Given the description of an element on the screen output the (x, y) to click on. 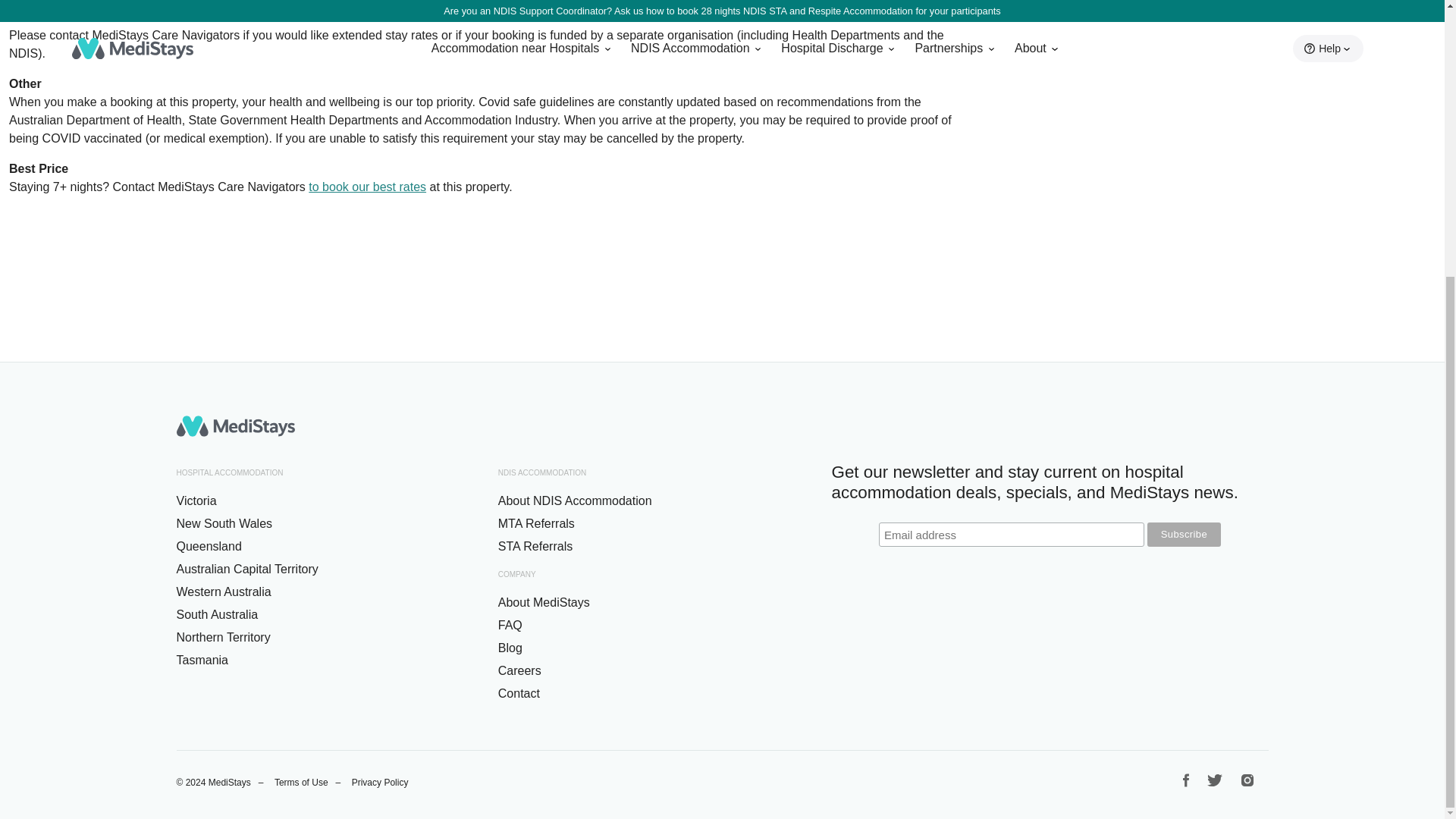
Subscribe (1184, 534)
